Given the description of an element on the screen output the (x, y) to click on. 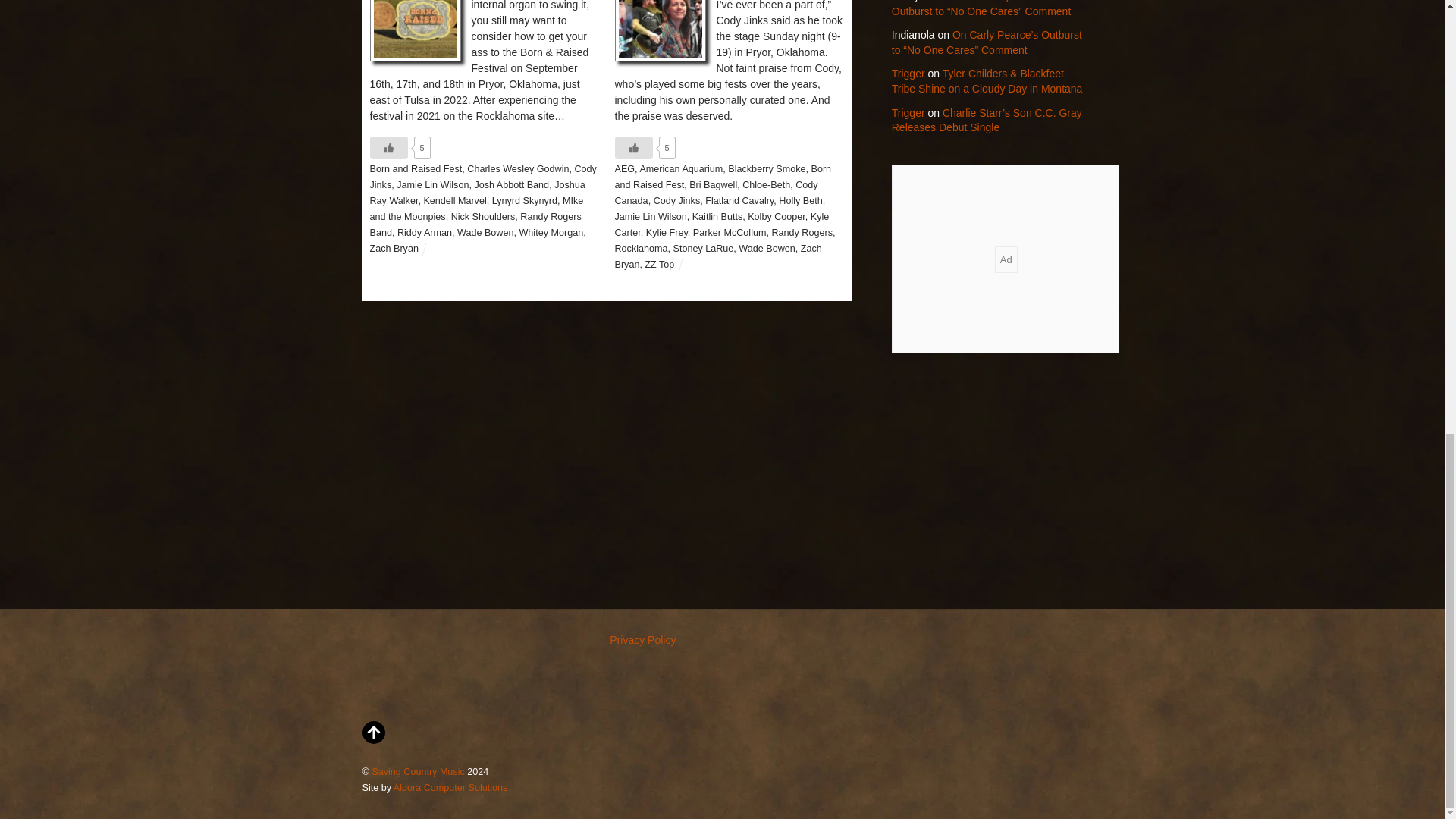
born-and-raised-music-festival (415, 31)
